Given the description of an element on the screen output the (x, y) to click on. 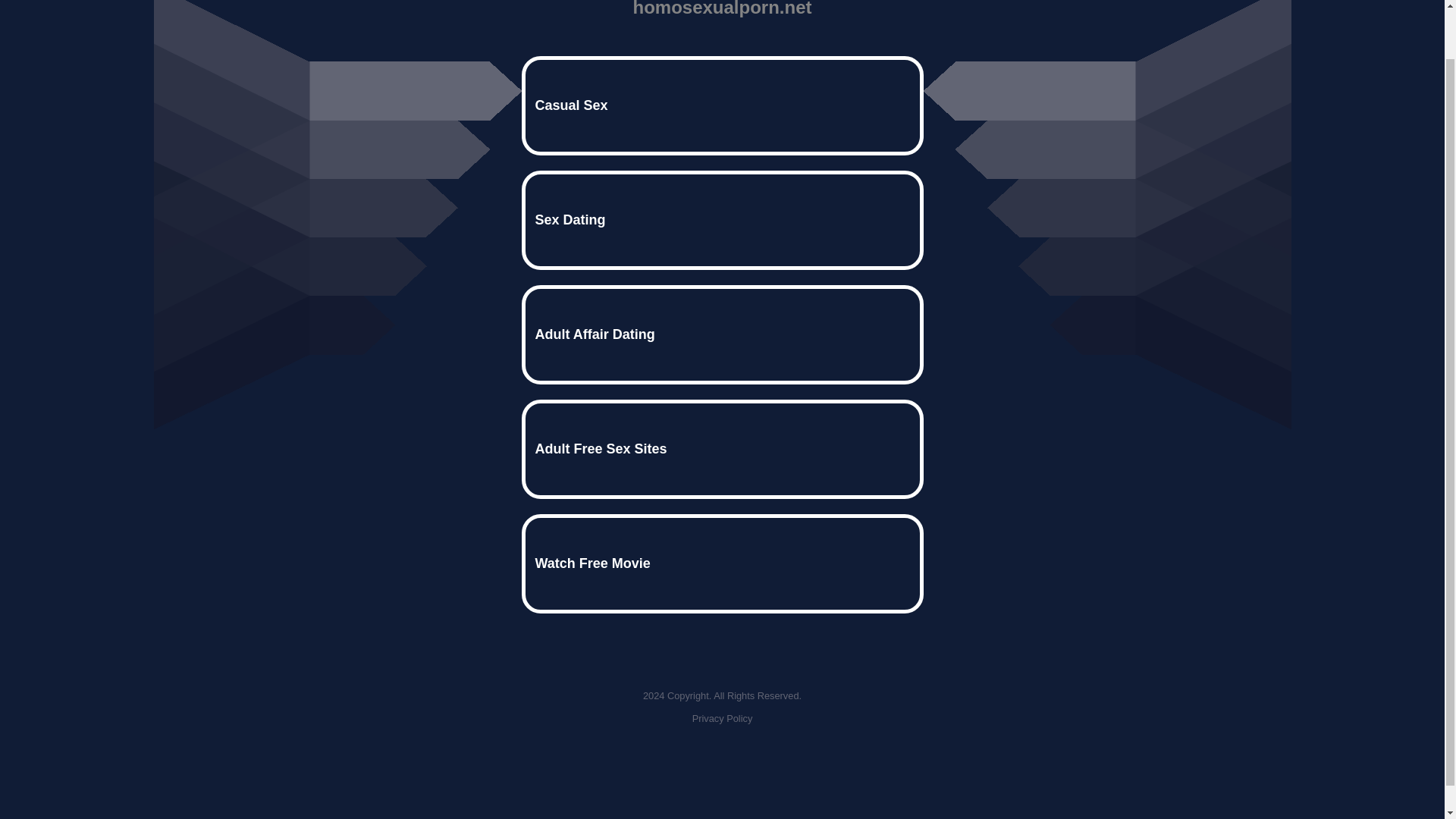
Privacy Policy (722, 717)
Sex Dating (722, 220)
Watch Free Movie (722, 563)
Casual Sex (722, 105)
Adult Free Sex Sites (722, 448)
Adult Affair Dating (722, 334)
